Given the description of an element on the screen output the (x, y) to click on. 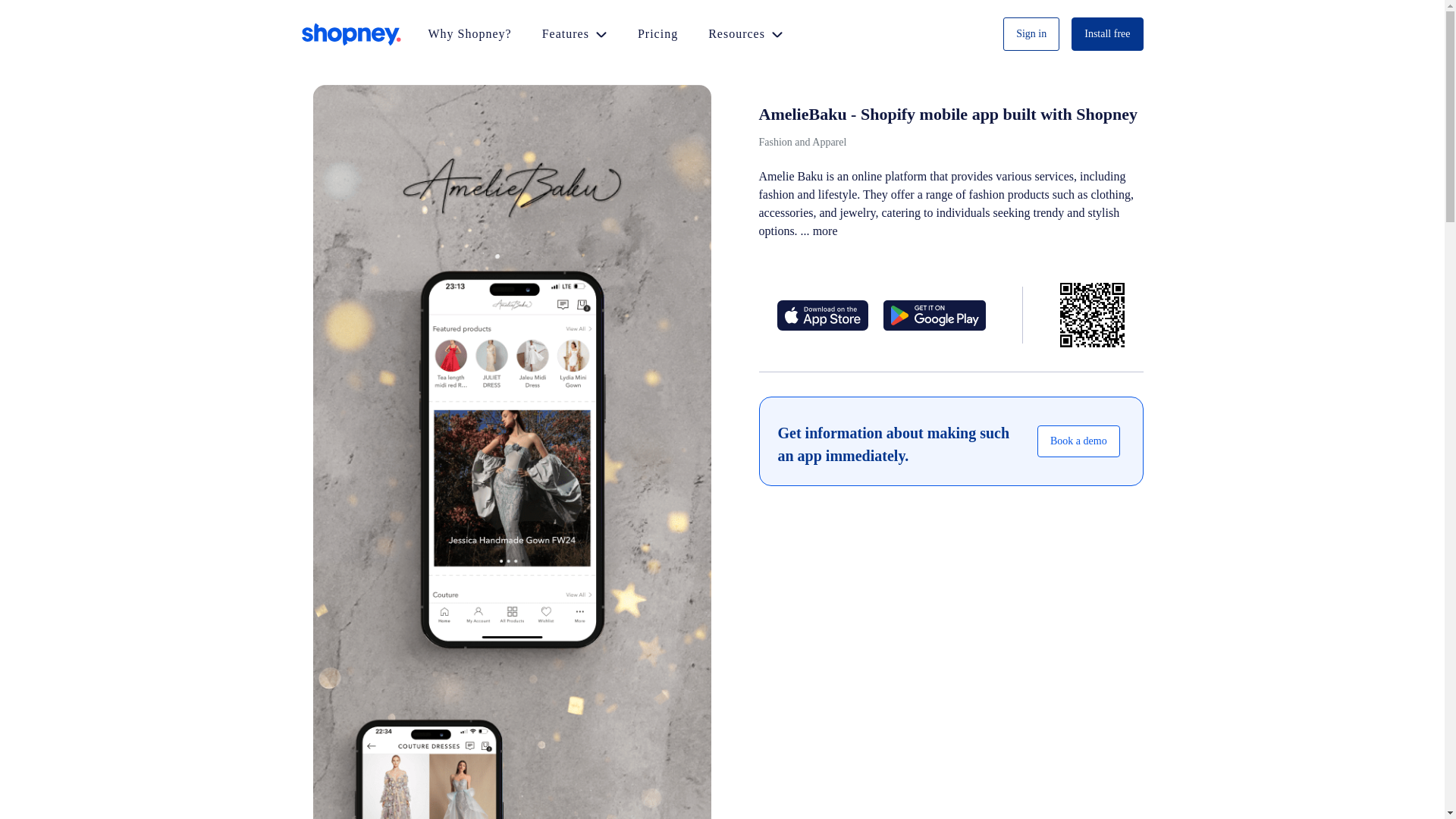
Why Shopney? (468, 34)
Pricing (658, 34)
Features (575, 34)
Sign in (1031, 33)
more (825, 230)
Resources (745, 34)
Install free (1106, 33)
Book a demo (1077, 441)
